Given the description of an element on the screen output the (x, y) to click on. 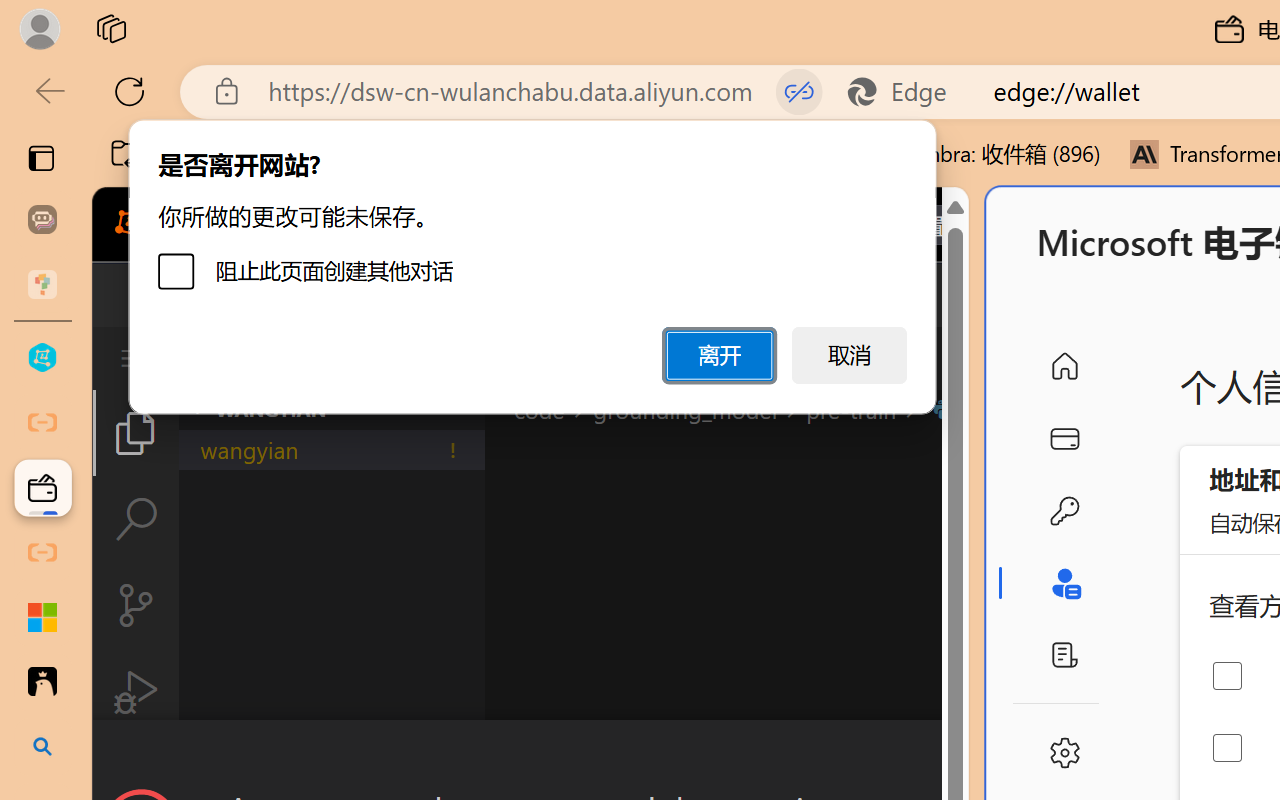
Adjust indents and spacing - Microsoft Support (42, 617)
Run and Debug (Ctrl+Shift+D) (135, 692)
Class: actions-container (529, 756)
Close Dialog (959, 756)
